Given the description of an element on the screen output the (x, y) to click on. 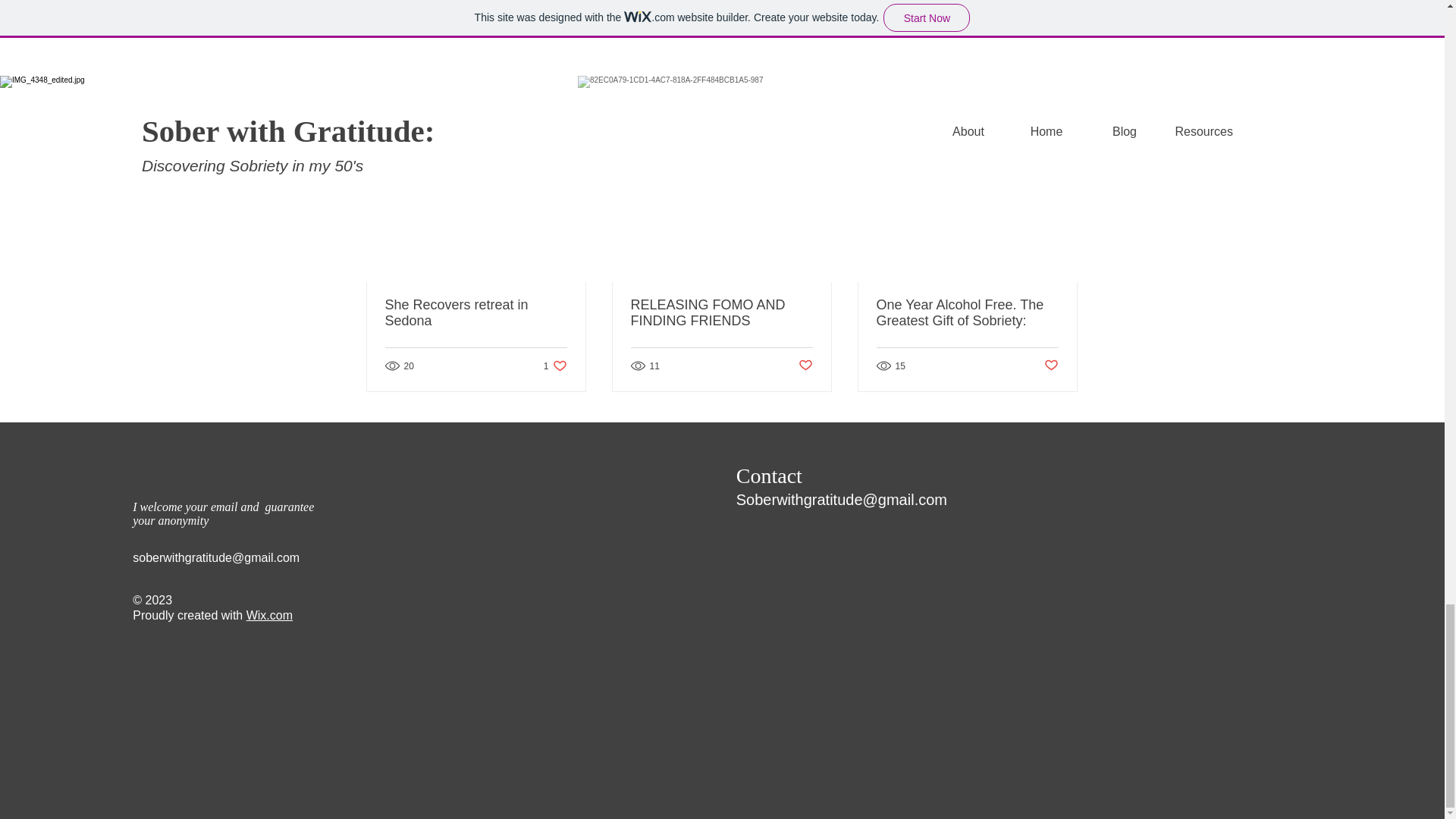
RELEASING FOMO AND FINDING FRIENDS (721, 313)
She Recovers retreat in Sedona (476, 313)
Post not marked as liked (804, 365)
See All (1061, 128)
Wix.com (269, 615)
Post not marked as liked (555, 365)
One Year Alcohol Free. The Greatest Gift of Sobriety: (1050, 365)
